Given the description of an element on the screen output the (x, y) to click on. 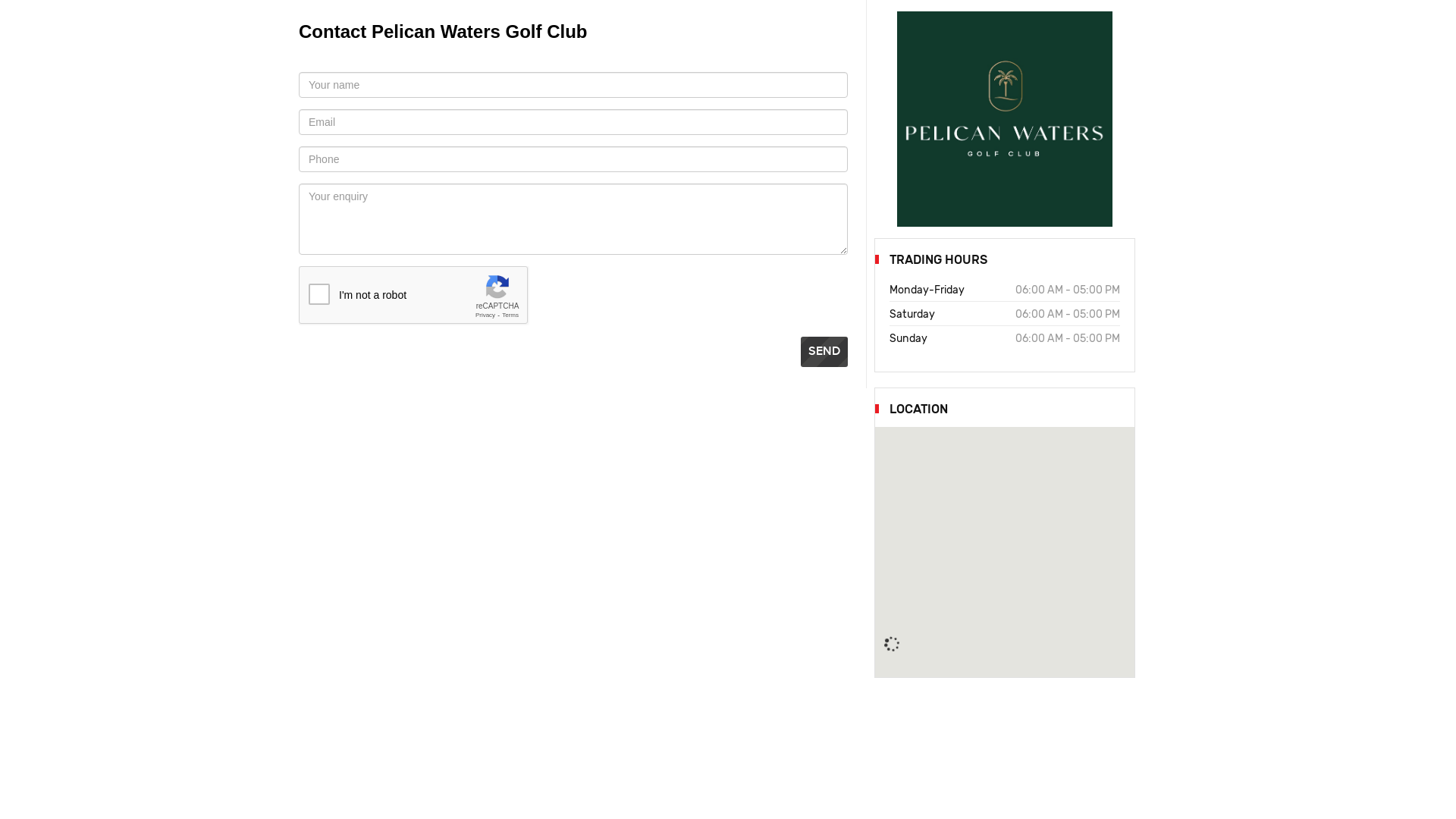
reCAPTCHA Element type: hover (413, 295)
Send Element type: text (823, 351)
